Given the description of an element on the screen output the (x, y) to click on. 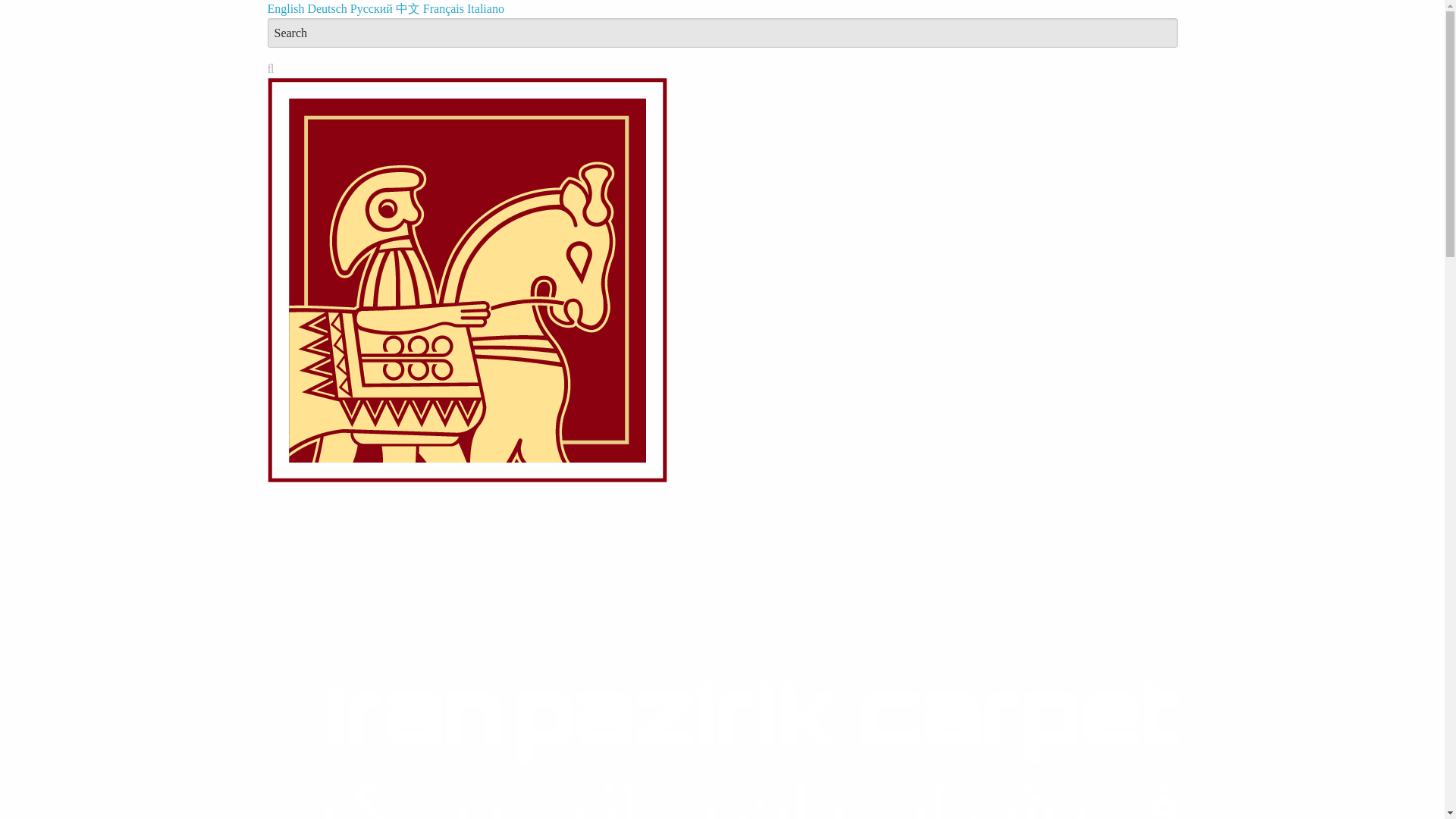
Italiano (485, 8)
Deutsch (328, 8)
Italiano (485, 8)
English (286, 8)
Deutsch (328, 8)
English (286, 8)
